Given the description of an element on the screen output the (x, y) to click on. 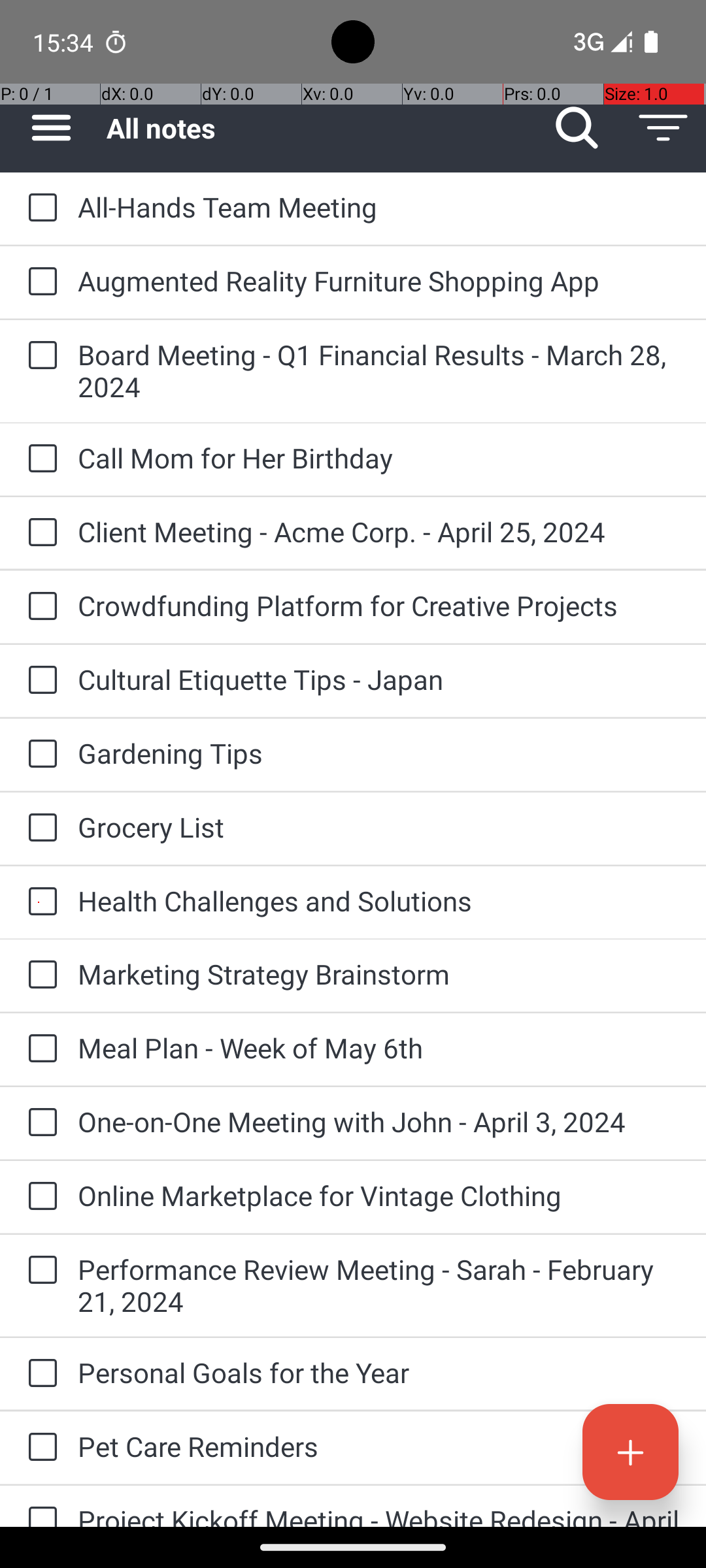
to-do: All-Hands Team Meeting Element type: android.widget.CheckBox (38, 208)
All-Hands Team Meeting Element type: android.widget.TextView (378, 206)
to-do: Augmented Reality Furniture Shopping App Element type: android.widget.CheckBox (38, 282)
Augmented Reality Furniture Shopping App Element type: android.widget.TextView (378, 280)
to-do: Board Meeting - Q1 Financial Results - March 28, 2024 Element type: android.widget.CheckBox (38, 356)
to-do: Call Mom for Her Birthday Element type: android.widget.CheckBox (38, 459)
Call Mom for Her Birthday Element type: android.widget.TextView (378, 457)
to-do: Client Meeting - Acme Corp. - April 25, 2024 Element type: android.widget.CheckBox (38, 533)
Client Meeting - Acme Corp. - April 25, 2024 Element type: android.widget.TextView (378, 531)
to-do: Crowdfunding Platform for Creative Projects Element type: android.widget.CheckBox (38, 606)
Crowdfunding Platform for Creative Projects Element type: android.widget.TextView (378, 604)
to-do: Cultural Etiquette Tips - Japan Element type: android.widget.CheckBox (38, 680)
Cultural Etiquette Tips - Japan Element type: android.widget.TextView (378, 678)
to-do: Gardening Tips Element type: android.widget.CheckBox (38, 754)
Gardening Tips Element type: android.widget.TextView (378, 752)
to-do: Health Challenges and Solutions Element type: android.widget.CheckBox (38, 902)
Health Challenges and Solutions Element type: android.widget.TextView (378, 900)
to-do: Marketing Strategy Brainstorm Element type: android.widget.CheckBox (38, 975)
Marketing Strategy Brainstorm Element type: android.widget.TextView (378, 973)
to-do: Meal Plan - Week of May 6th Element type: android.widget.CheckBox (38, 1049)
Meal Plan - Week of May 6th Element type: android.widget.TextView (378, 1047)
to-do: One-on-One Meeting with John - April 3, 2024 Element type: android.widget.CheckBox (38, 1123)
One-on-One Meeting with John - April 3, 2024 Element type: android.widget.TextView (378, 1121)
to-do: Performance Review Meeting - Sarah - February 21, 2024 Element type: android.widget.CheckBox (38, 1270)
Performance Review Meeting - Sarah - February 21, 2024 Element type: android.widget.TextView (378, 1284)
to-do: Personal Goals for the Year Element type: android.widget.CheckBox (38, 1373)
Personal Goals for the Year Element type: android.widget.TextView (378, 1371)
to-do: Pet Care Reminders Element type: android.widget.CheckBox (38, 1447)
Pet Care Reminders Element type: android.widget.TextView (378, 1445)
to-do: Project Kickoff Meeting - Website Redesign - April 10, 2024 Element type: android.widget.CheckBox (38, 1505)
Project Kickoff Meeting - Website Redesign - April 10, 2024 Element type: android.widget.TextView (378, 1513)
